Given the description of an element on the screen output the (x, y) to click on. 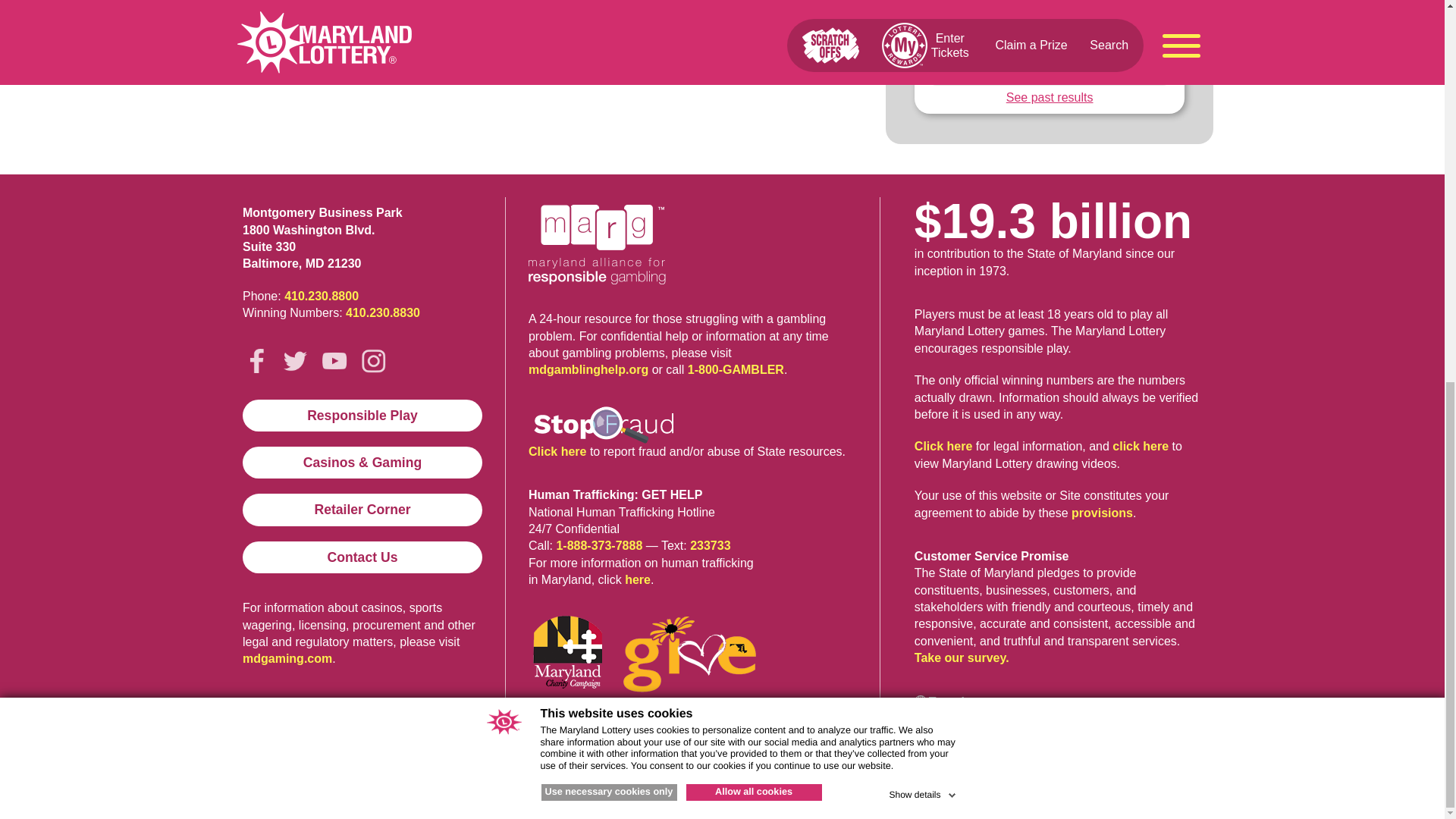
Allow all cookies (753, 76)
Show details (923, 76)
Use necessary cookies only (609, 76)
